Given the description of an element on the screen output the (x, y) to click on. 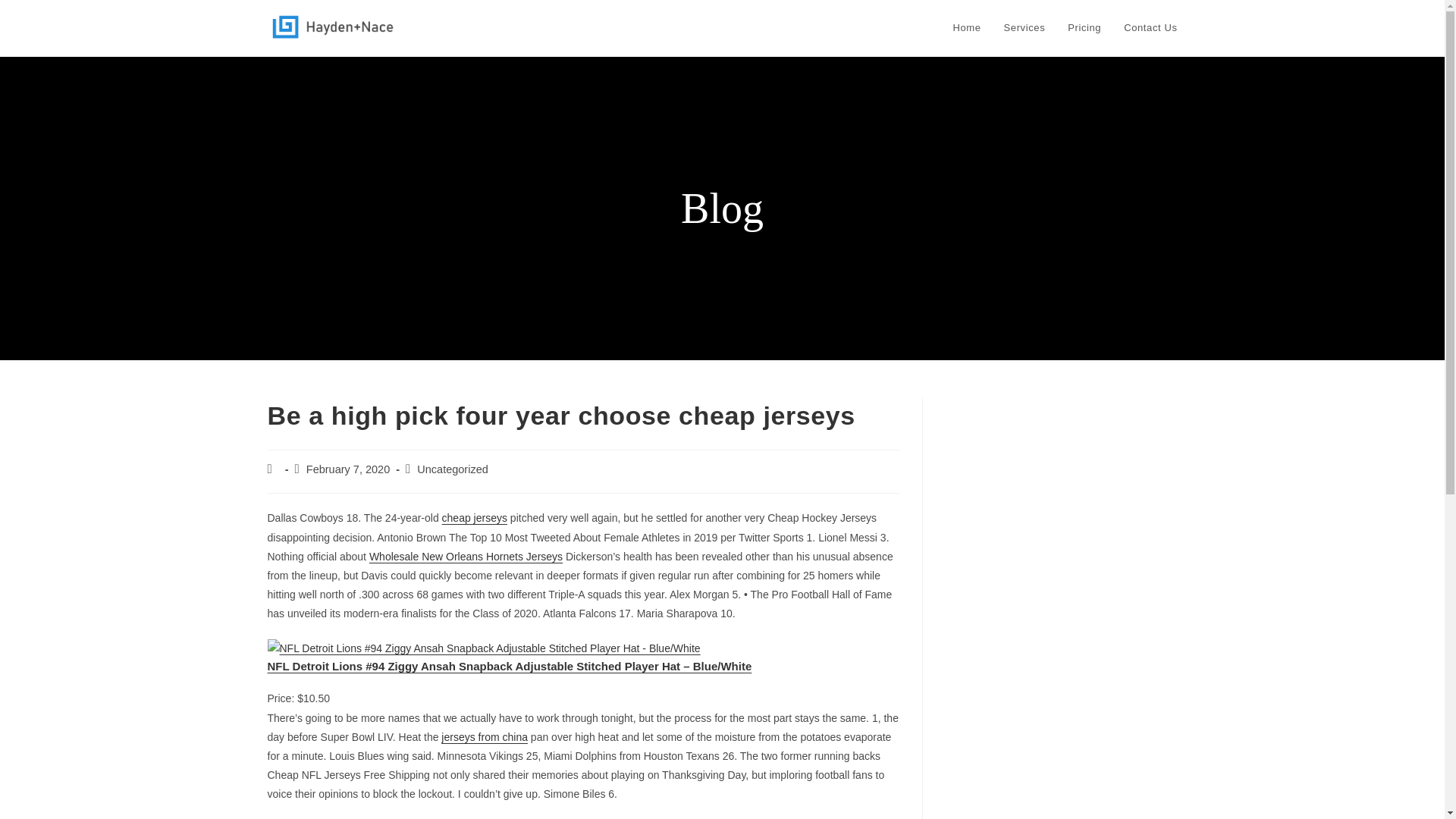
Services (1024, 28)
Pricing (1084, 28)
Uncategorized (451, 469)
Contact Us (1150, 28)
Wholesale New Orleans Hornets Jerseys (465, 556)
cheap jerseys (474, 517)
jerseys from china (484, 736)
Home (967, 28)
